Given the description of an element on the screen output the (x, y) to click on. 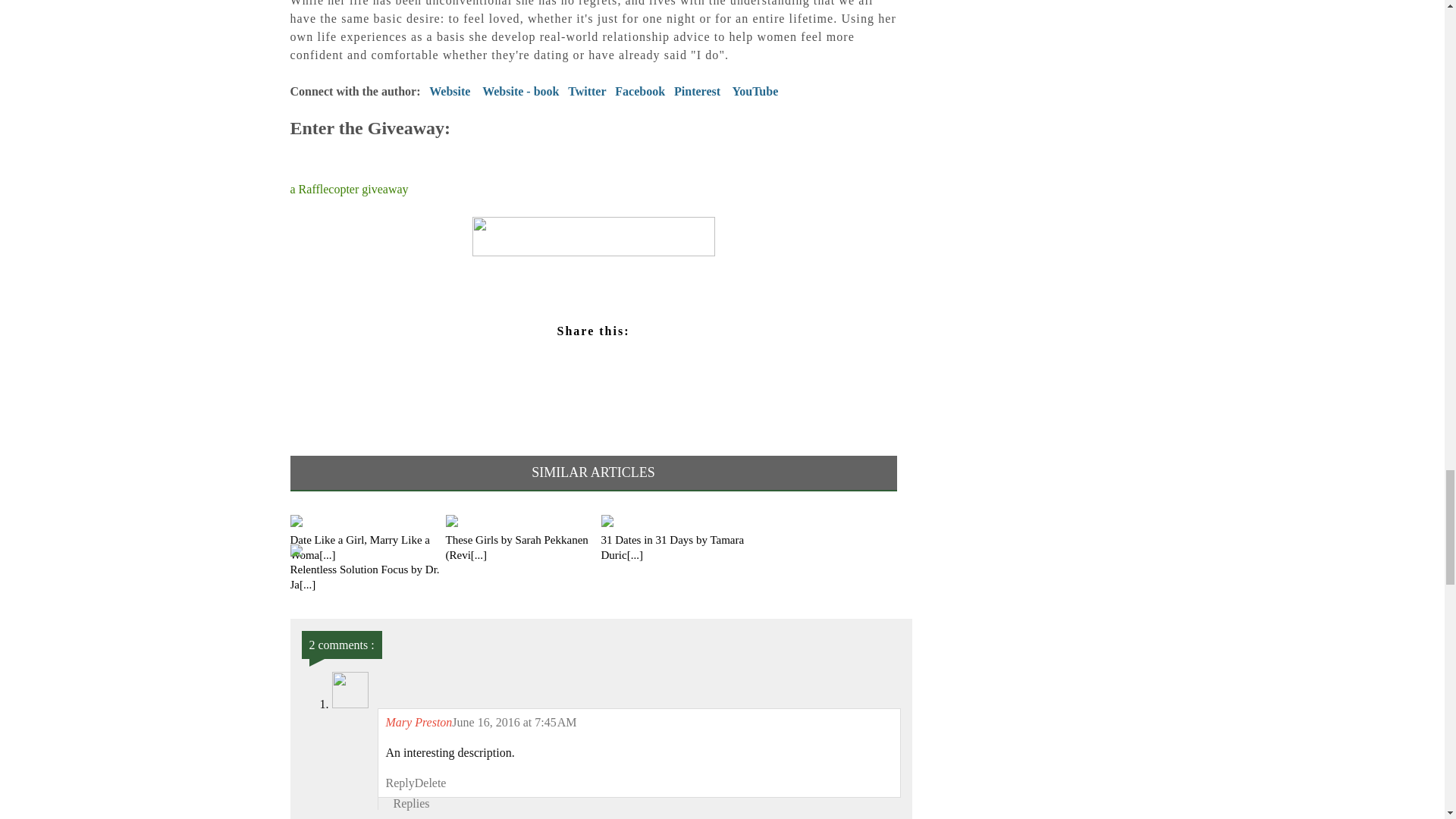
Facebook (639, 91)
Pinterest (697, 91)
a Rafflecopter giveaway (348, 188)
Share to Facebook (678, 359)
Share to Twitter (505, 359)
Website - book   (522, 91)
YouTube (754, 91)
Twitter (586, 91)
Website (449, 91)
